Given the description of an element on the screen output the (x, y) to click on. 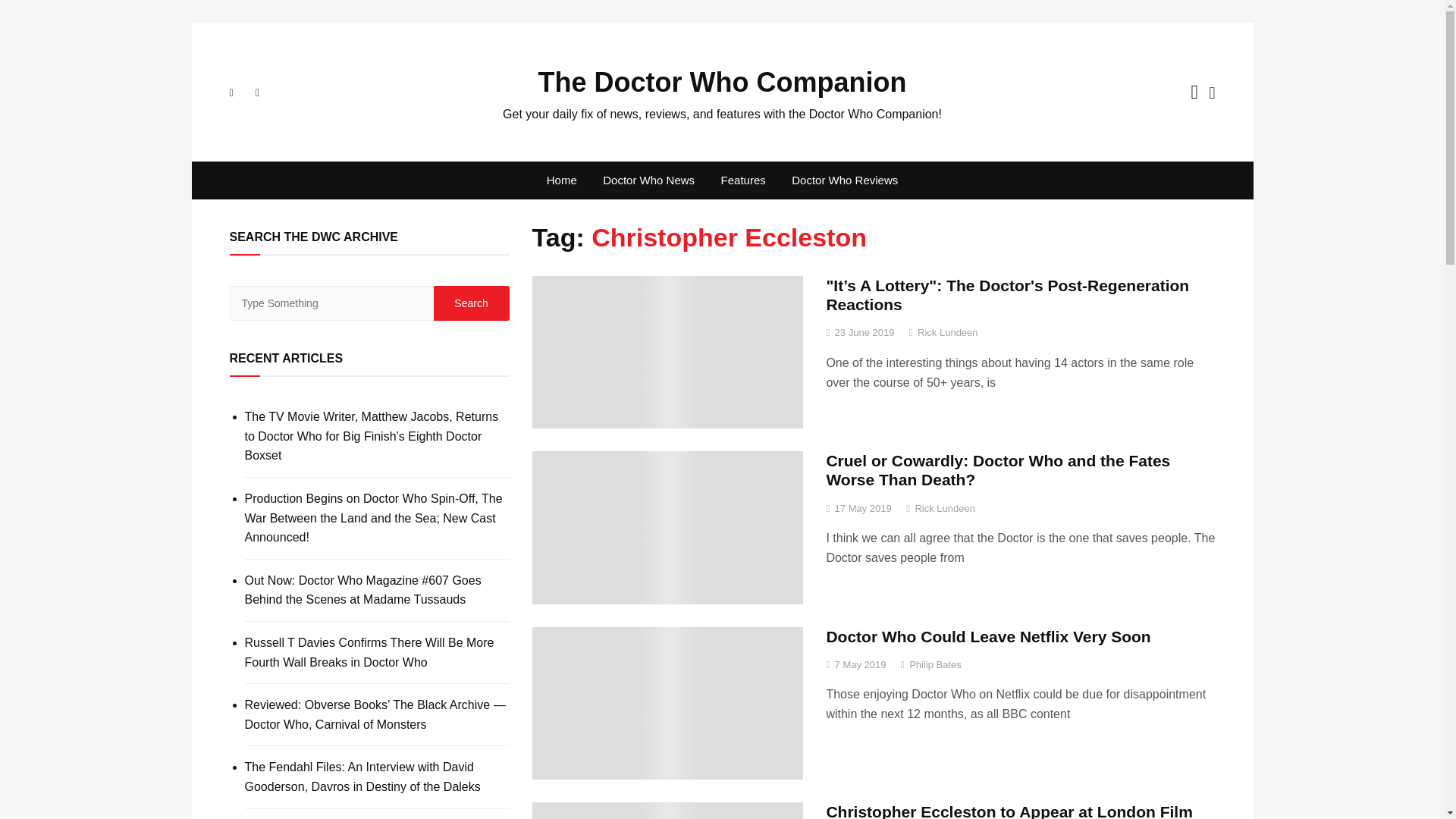
Search (471, 303)
Home (561, 180)
The Doctor Who Companion (722, 81)
Features (743, 180)
Doctor Who News (648, 180)
Doctor Who Reviews (844, 180)
